Given the description of an element on the screen output the (x, y) to click on. 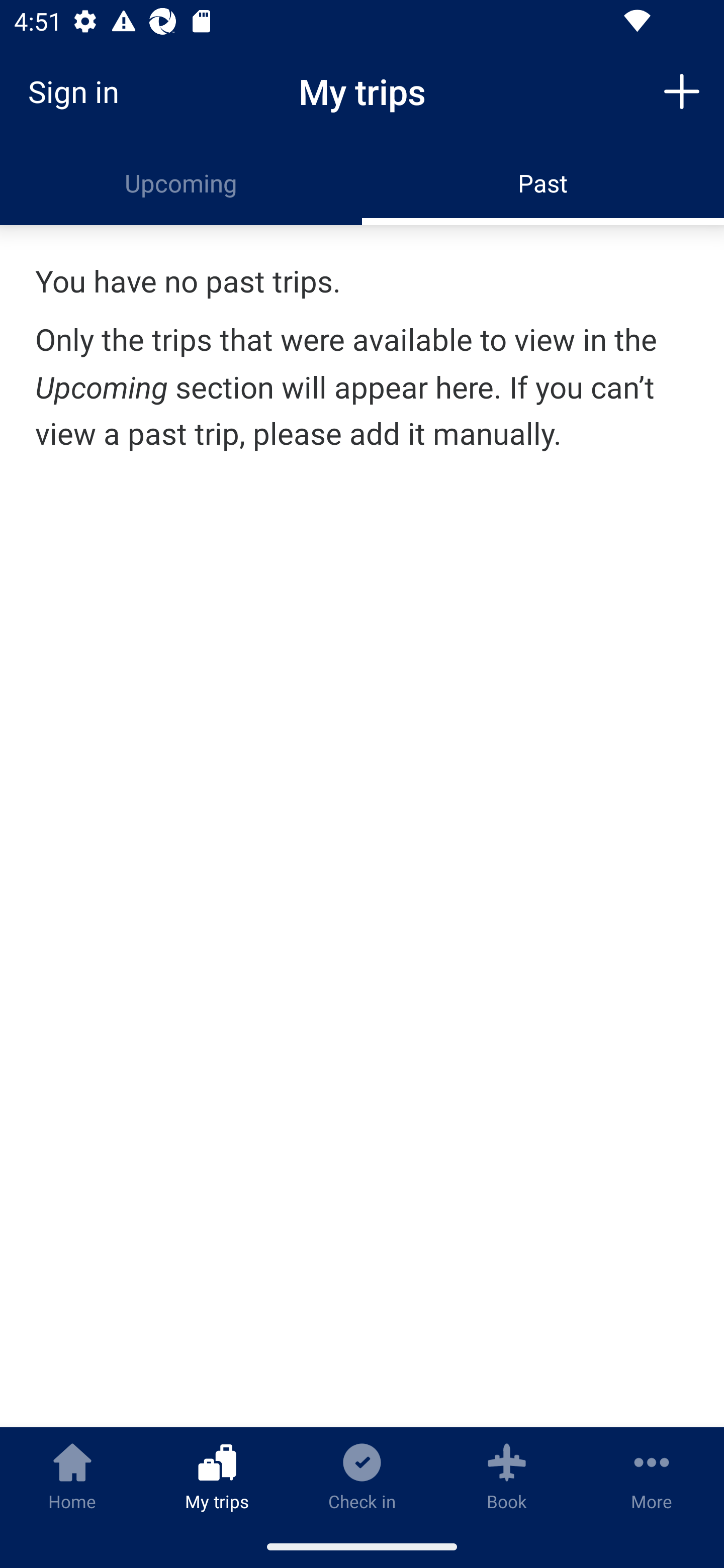
Sign in (80, 91)
Add trip (681, 90)
Upcoming (181, 183)
Home (72, 1475)
Check in (361, 1475)
Book (506, 1475)
More (651, 1475)
